Given the description of an element on the screen output the (x, y) to click on. 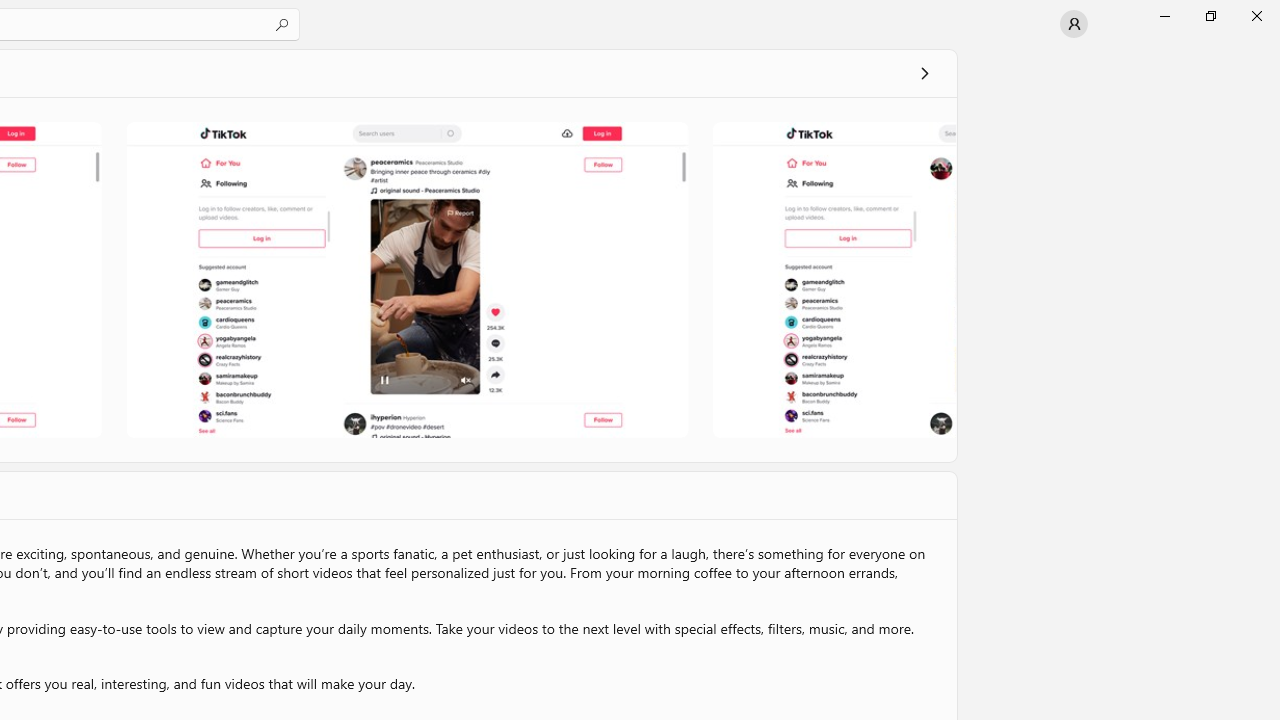
Screenshot 3 (832, 279)
See all (924, 72)
Screenshot 2 (406, 279)
Minimize Microsoft Store (1164, 15)
Restore Microsoft Store (1210, 15)
User profile (1073, 24)
Close Microsoft Store (1256, 15)
